Given the description of an element on the screen output the (x, y) to click on. 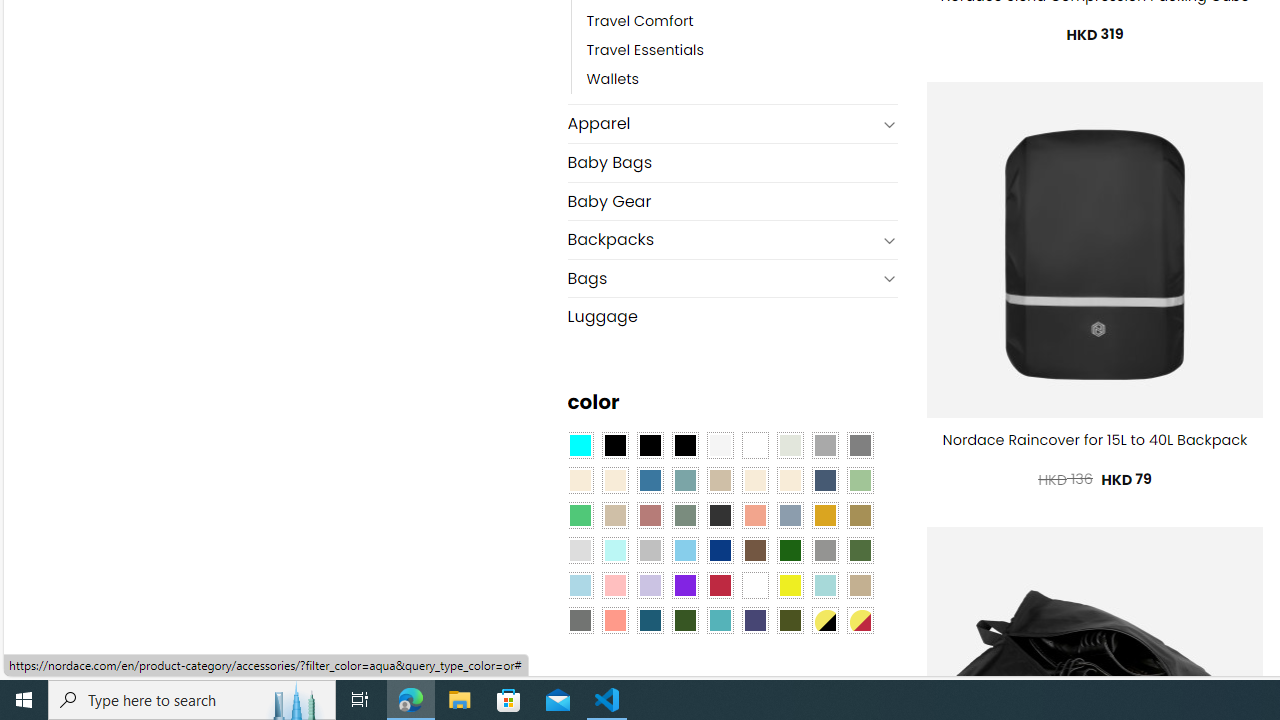
Blue (650, 480)
Apparel (721, 124)
Dusty Blue (789, 514)
Black (650, 444)
Baby Gear (732, 200)
Light Purple (650, 584)
Caramel (755, 480)
Dull Nickle (579, 619)
Silver (650, 550)
Gray (824, 550)
All Gray (859, 444)
Charcoal (719, 514)
Navy Blue (719, 550)
Sage (684, 514)
